Given the description of an element on the screen output the (x, y) to click on. 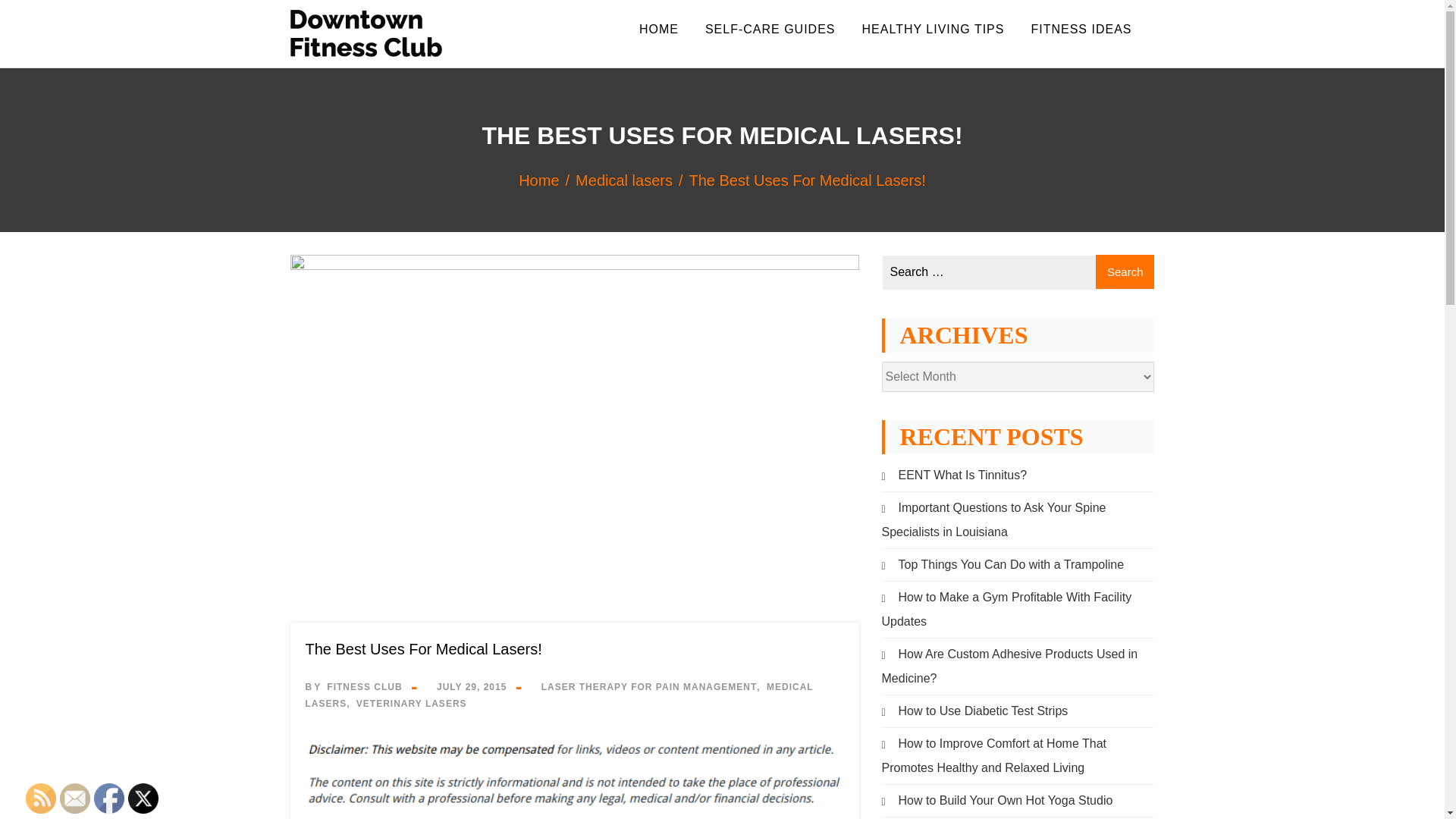
DOWNTOWN FITNESS CLUB (472, 75)
Home (546, 180)
EENT What Is Tinnitus? (953, 474)
HEALTHY LIVING TIPS (933, 40)
Facebook (108, 797)
Search (1125, 271)
HOME (658, 40)
Top Things You Can Do with a Trampoline (1002, 563)
MEDICAL LASERS (558, 695)
